Given the description of an element on the screen output the (x, y) to click on. 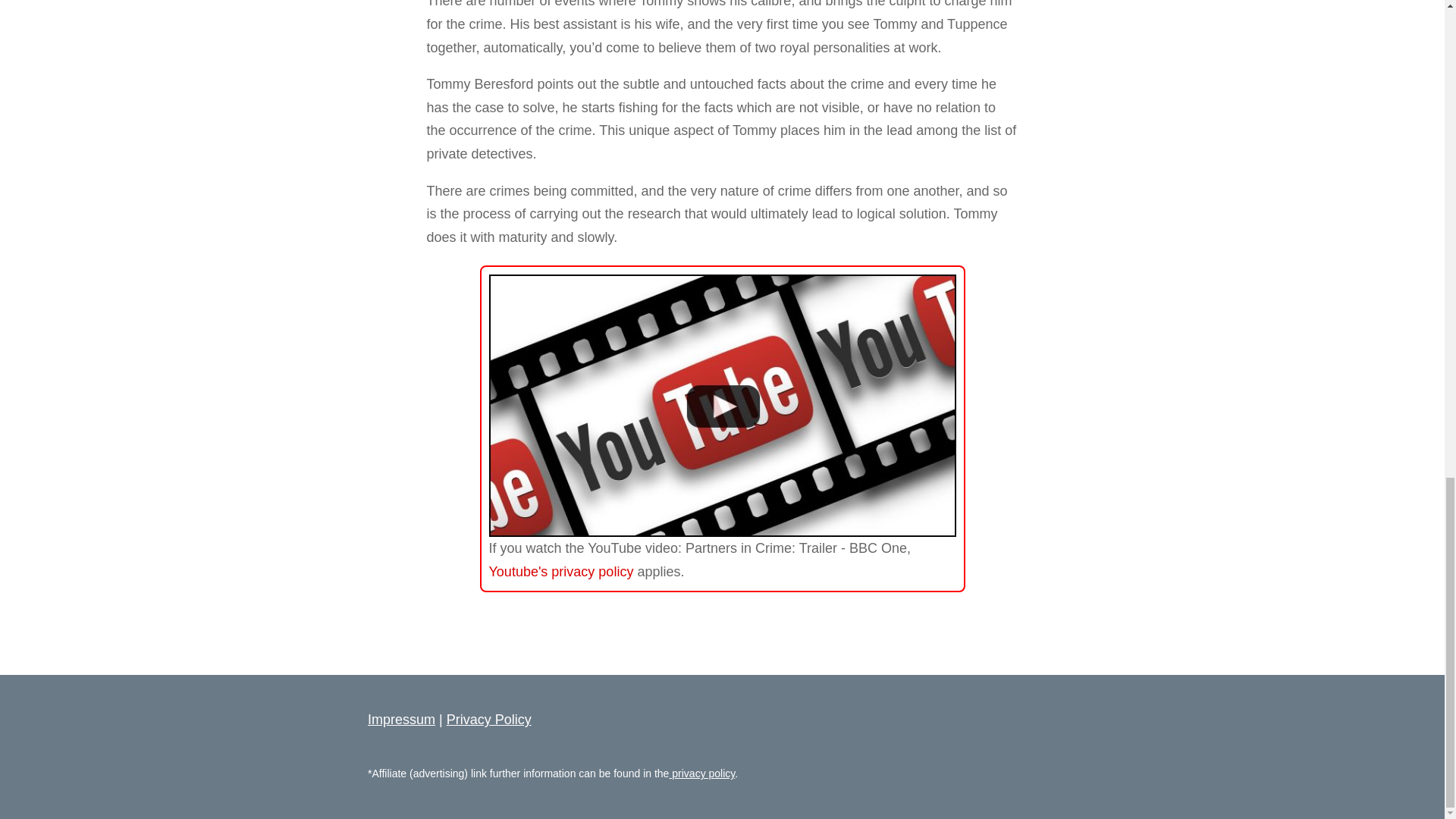
Privacy Policy (488, 719)
Impressum (401, 719)
Youtube's privacy policy (560, 571)
privacy policy (701, 773)
